Given the description of an element on the screen output the (x, y) to click on. 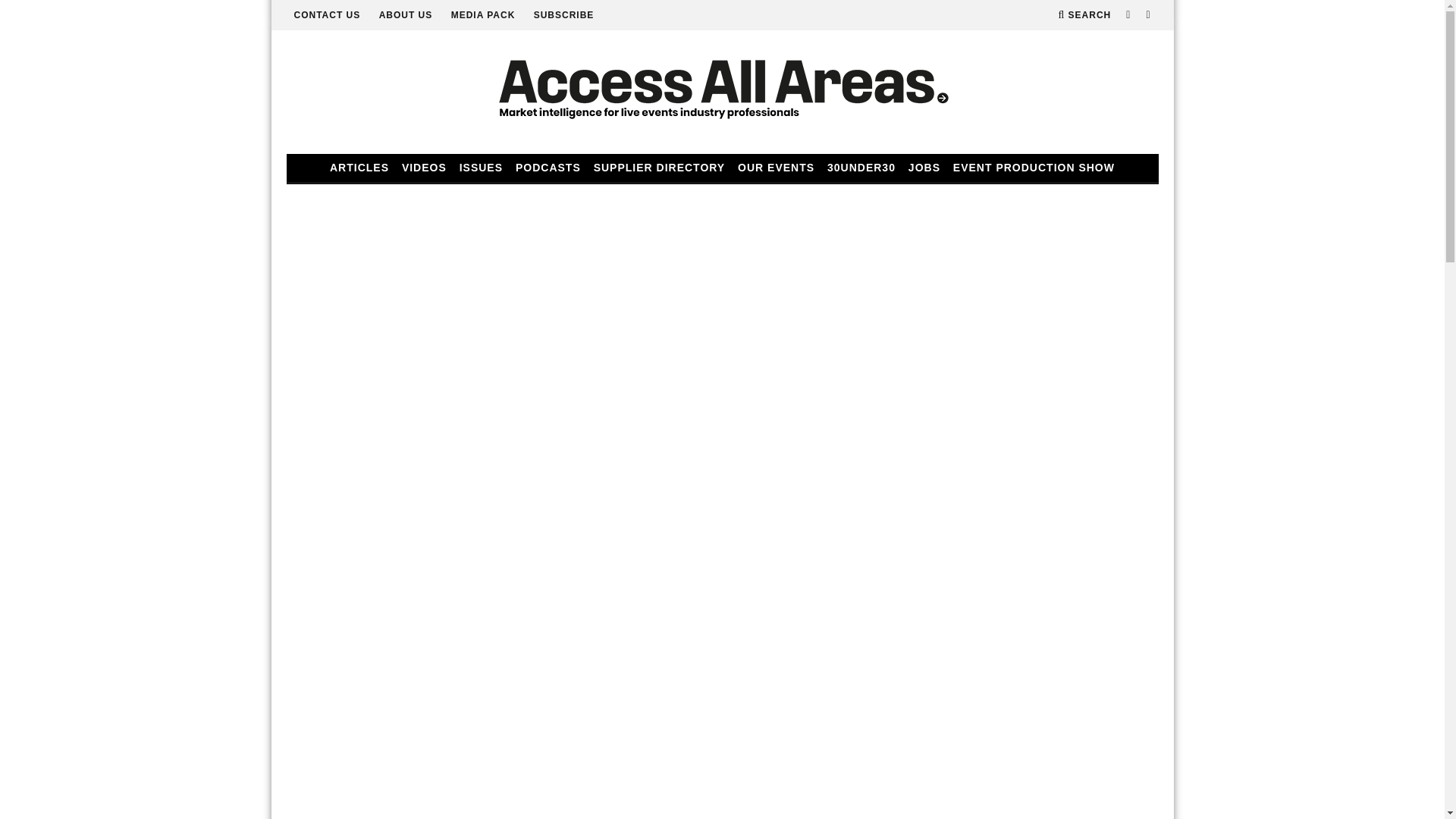
ABOUT US (405, 15)
VIDEOS (424, 167)
CONTACT US (327, 15)
Search (1084, 15)
SUBSCRIBE (564, 15)
SEARCH (1084, 15)
Log In (721, 413)
ARTICLES (358, 167)
MEDIA PACK (483, 15)
